Given the description of an element on the screen output the (x, y) to click on. 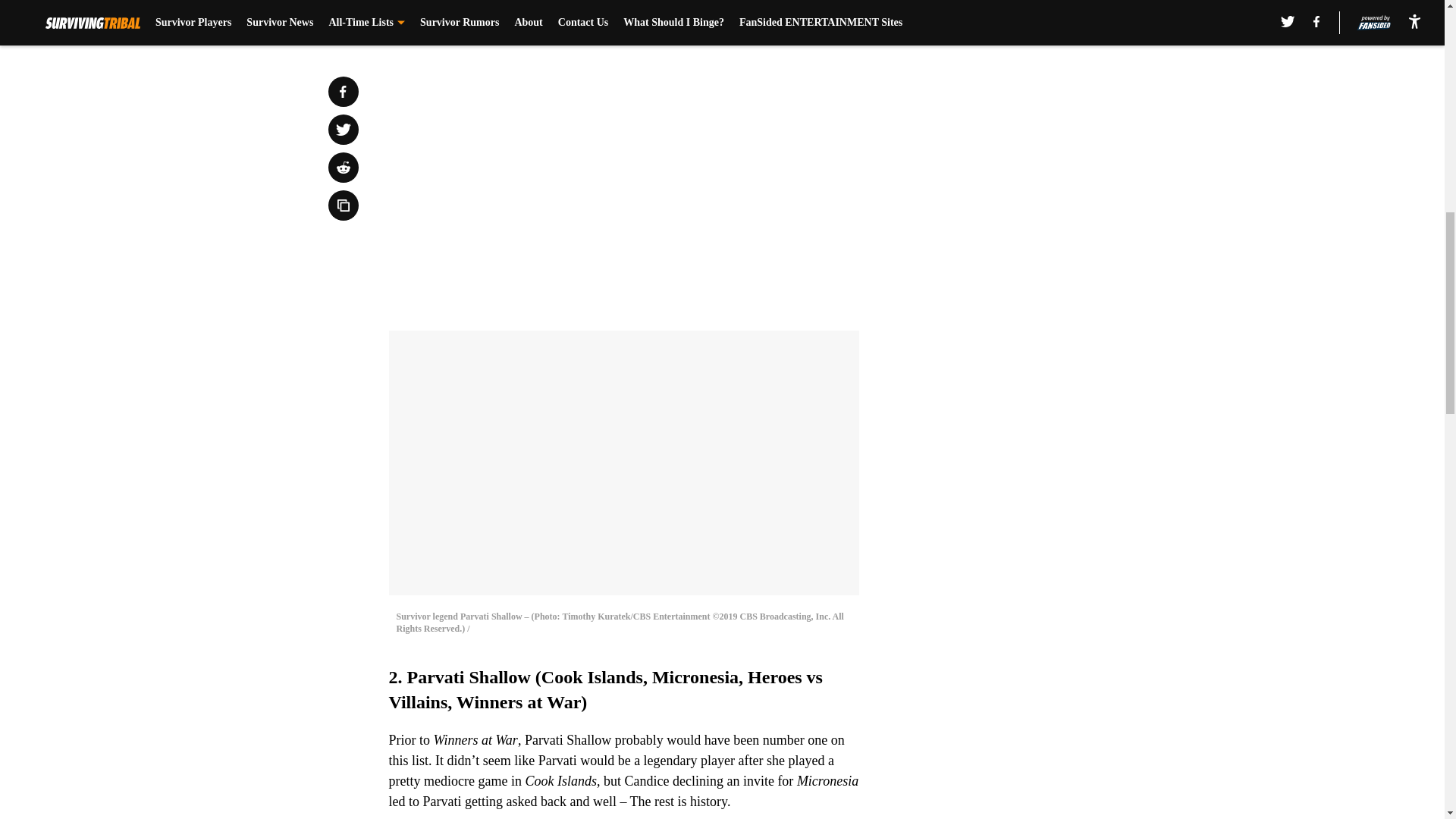
Prev (433, 20)
Next (813, 20)
